Given the description of an element on the screen output the (x, y) to click on. 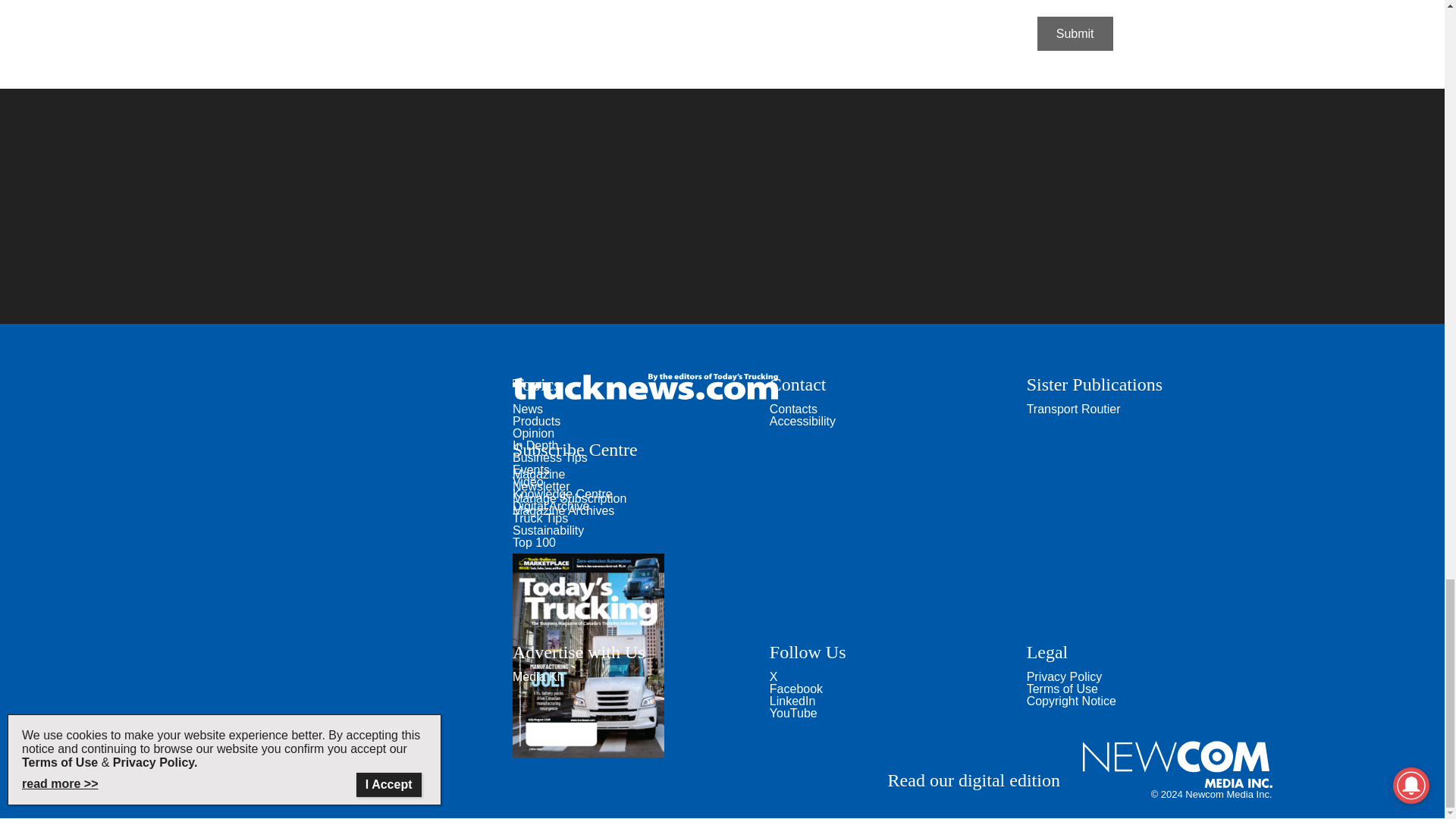
Submit (1074, 33)
3rd party ad content (721, 206)
